Given the description of an element on the screen output the (x, y) to click on. 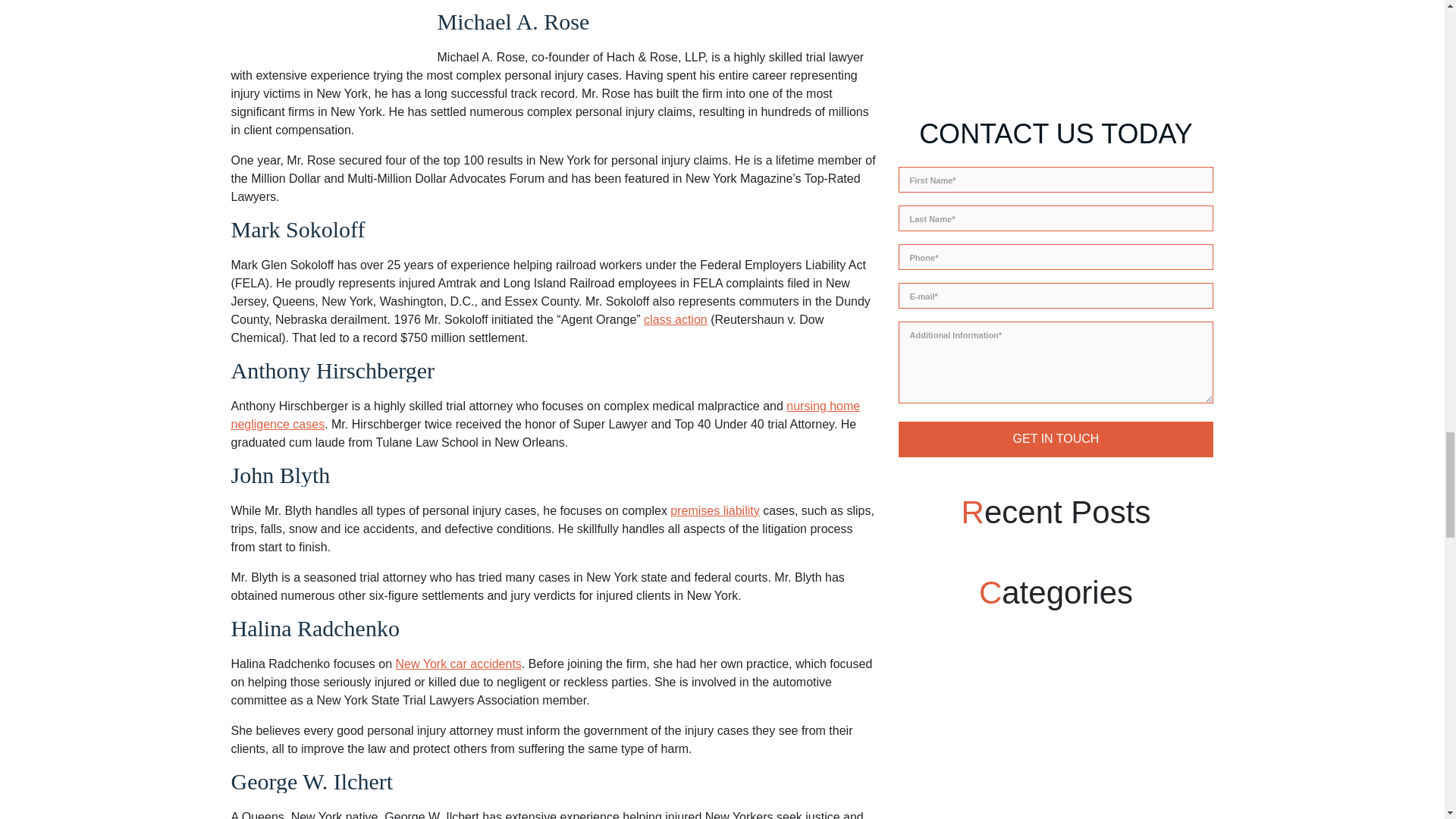
Premises Liability (713, 510)
Nursing Home Abuse (545, 414)
Car Accidents (458, 663)
Class Actions (675, 318)
